Given the description of an element on the screen output the (x, y) to click on. 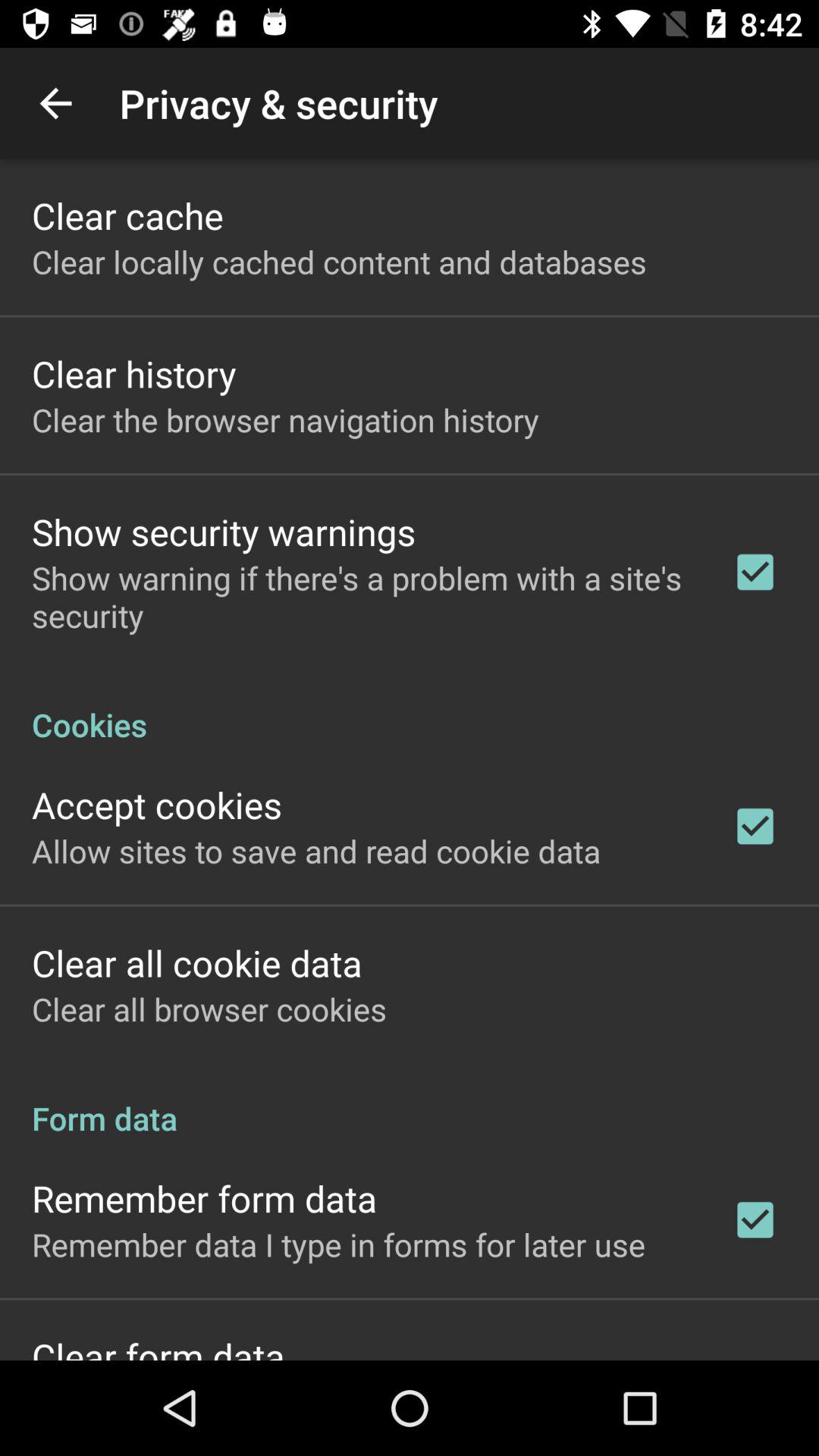
launch item below the clear cache (338, 261)
